Given the description of an element on the screen output the (x, y) to click on. 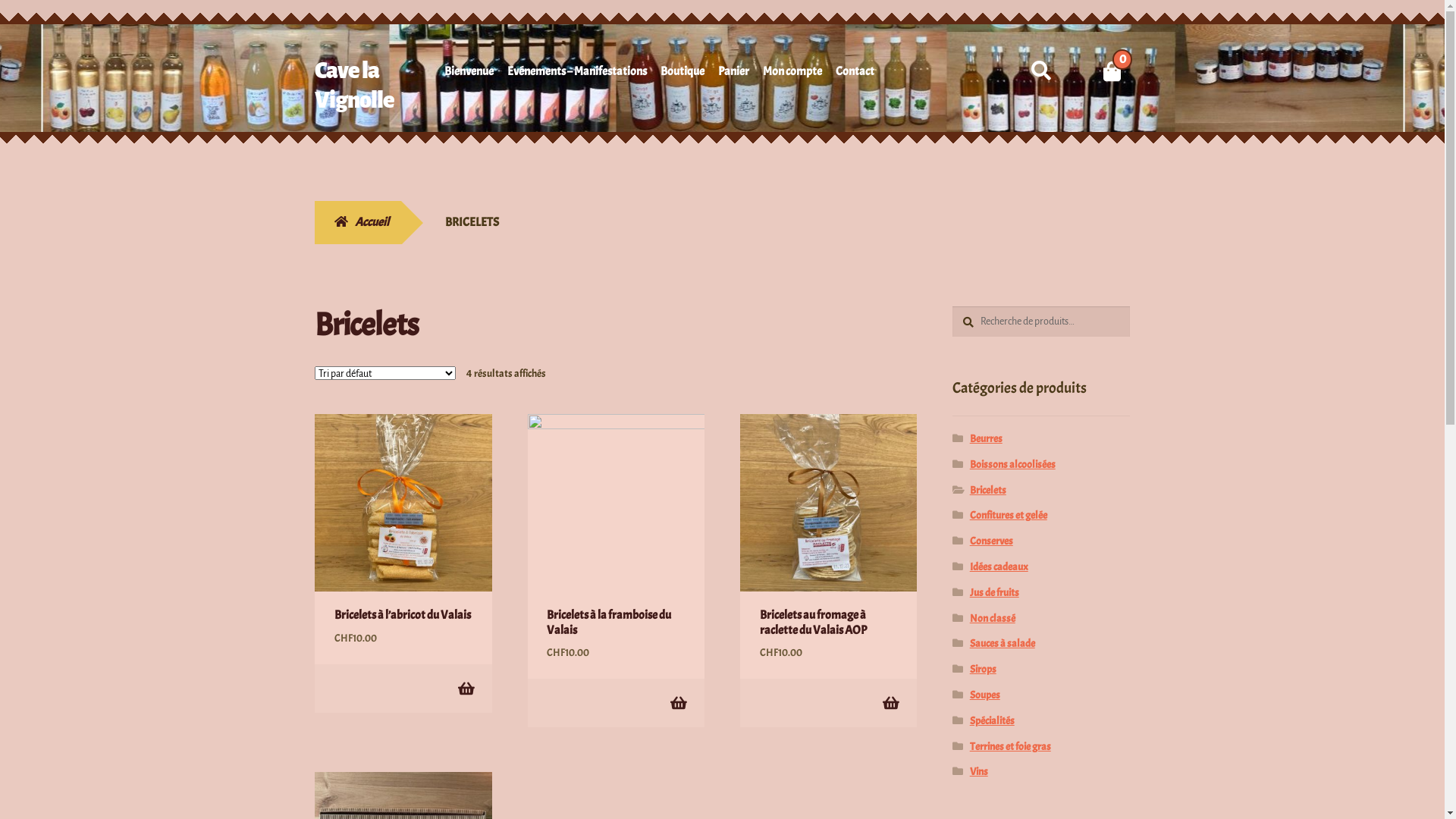
Sirops Element type: text (982, 668)
Bienvenue Element type: text (468, 73)
Soupes Element type: text (984, 694)
Panier Element type: text (733, 73)
Recherche Element type: text (1022, 54)
Boutique Element type: text (682, 73)
Jus de fruits Element type: text (994, 592)
Terrines et foie gras Element type: text (1010, 746)
Recherche Element type: text (951, 305)
Ajouter au panier Element type: text (889, 702)
Mon compte Element type: text (792, 73)
Bricelets Element type: text (987, 489)
Conserves Element type: text (991, 540)
Ajouter au panier Element type: text (677, 702)
Ajouter au panier Element type: text (465, 687)
Cave la Vignolle Element type: text (354, 85)
Accueil Element type: text (357, 222)
Contact Element type: text (854, 73)
Beurres Element type: text (985, 438)
Vins Element type: text (978, 771)
